Given the description of an element on the screen output the (x, y) to click on. 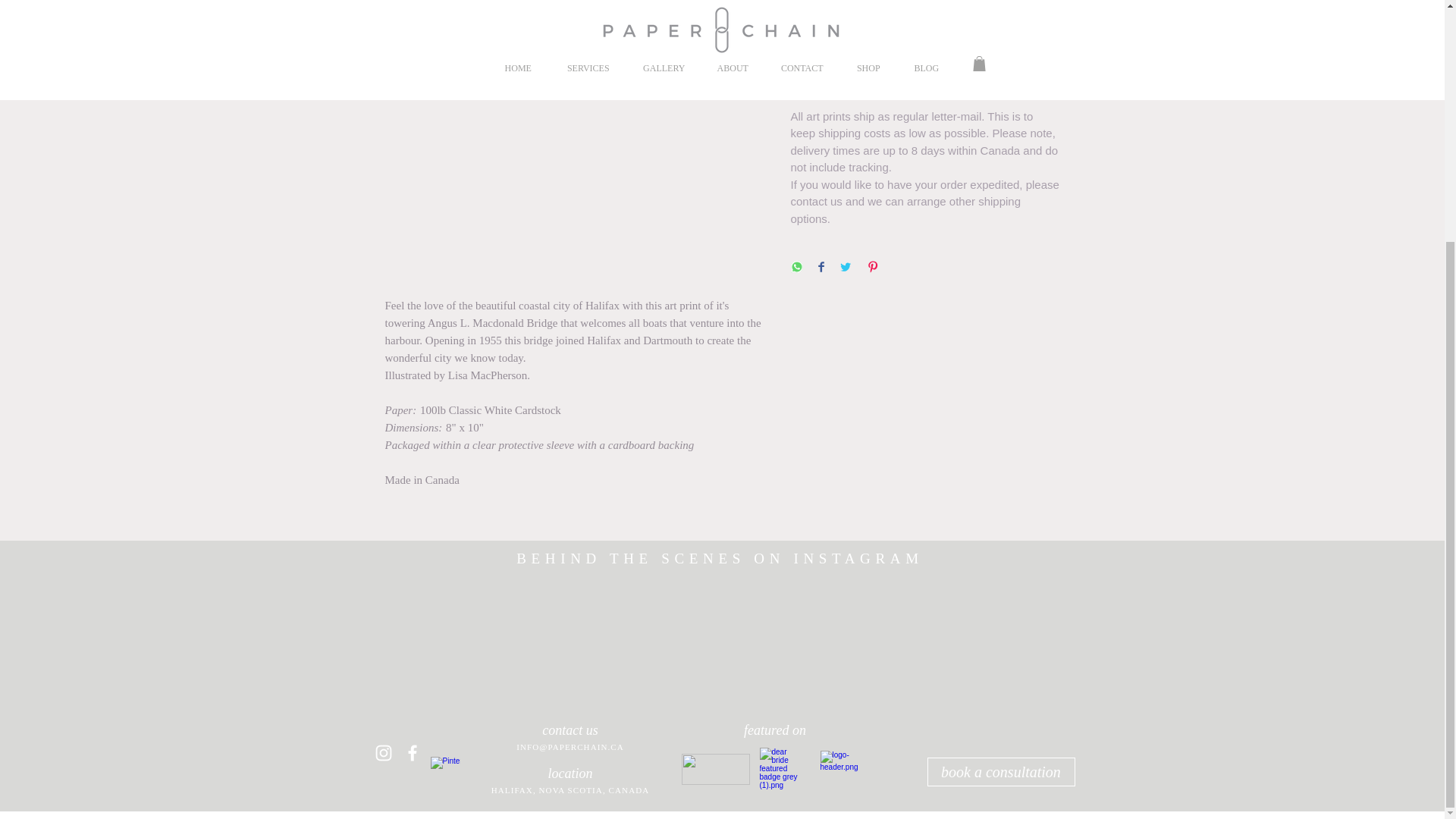
Shipping Information (924, 87)
Add to Cart (924, 28)
book a consultation (1000, 771)
